Given the description of an element on the screen output the (x, y) to click on. 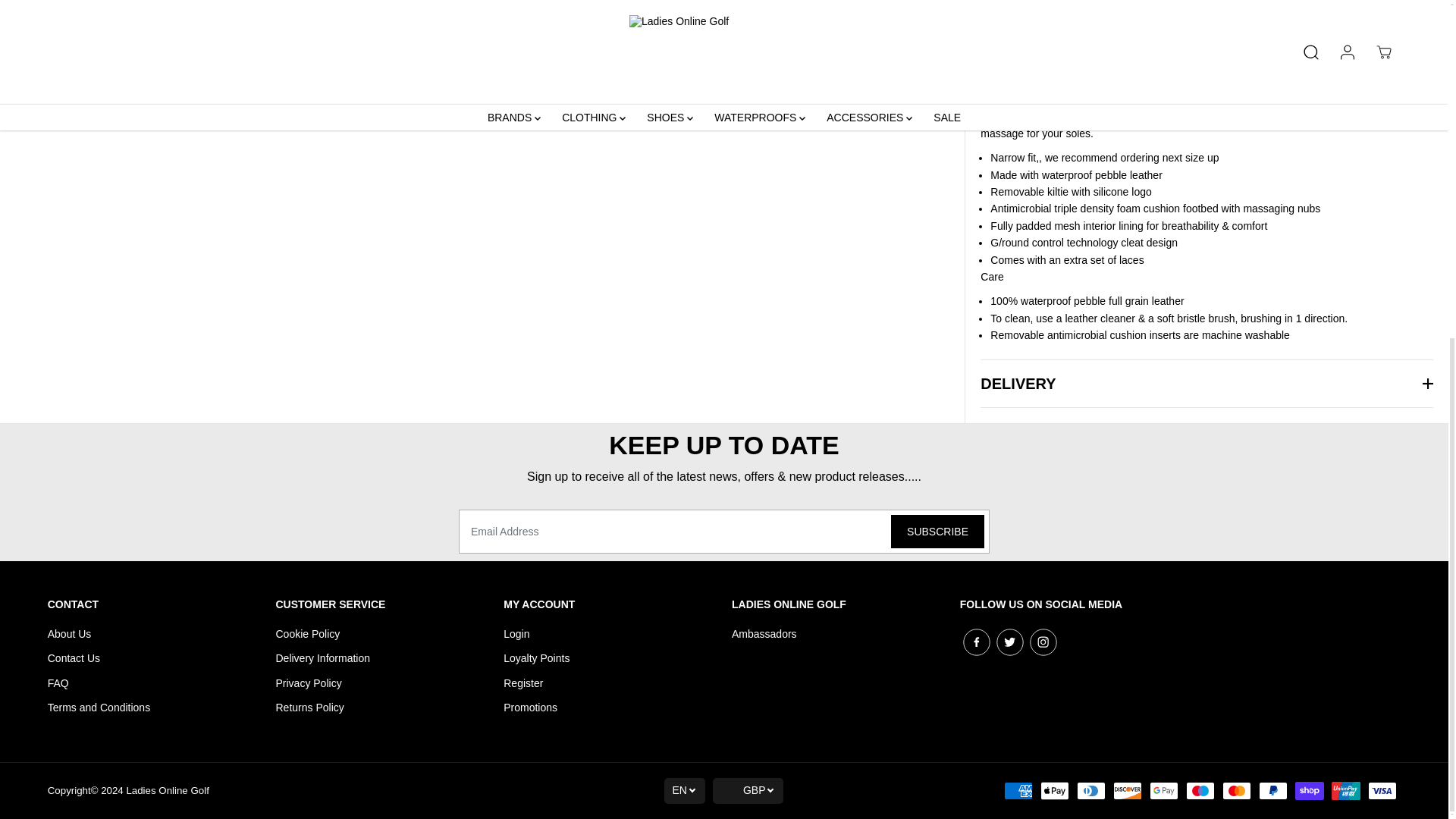
Google Pay (1163, 791)
Diners Club (1091, 791)
American Express (1018, 791)
Mastercard (1236, 791)
Apple Pay (1054, 791)
Maestro (1200, 791)
Discover (1127, 791)
